Given the description of an element on the screen output the (x, y) to click on. 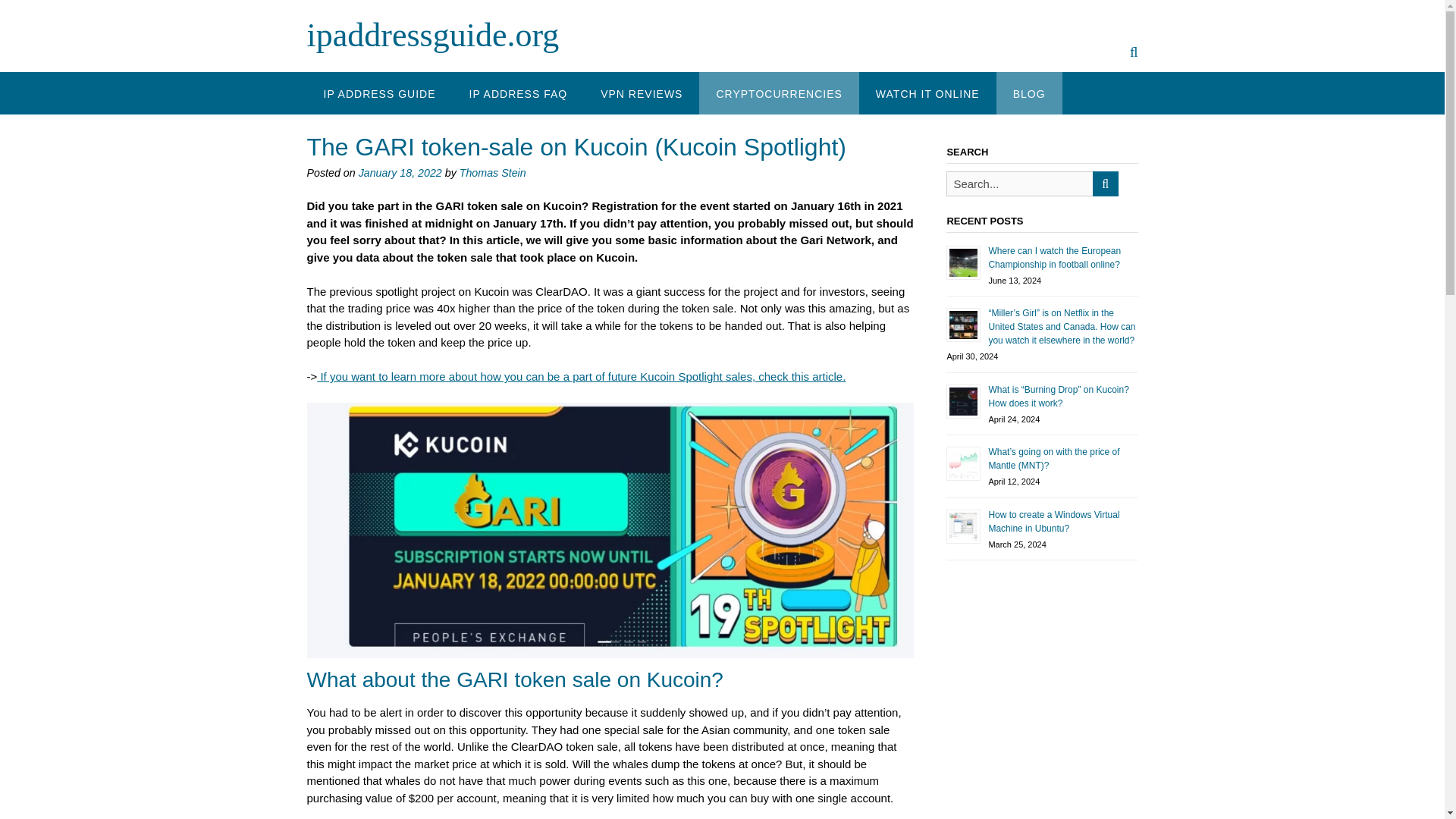
ipaddressguide.org (432, 35)
VPN REVIEWS (640, 92)
January 18, 2022 (400, 173)
Thomas Stein (492, 173)
BLOG (1028, 92)
CRYPTOCURRENCIES (778, 92)
IP ADDRESS FAQ (518, 92)
ipaddressguide.org (432, 35)
WATCH IT ONLINE (927, 92)
IP ADDRESS GUIDE (378, 92)
Search our website (1133, 51)
Search for: (1019, 183)
